Given the description of an element on the screen output the (x, y) to click on. 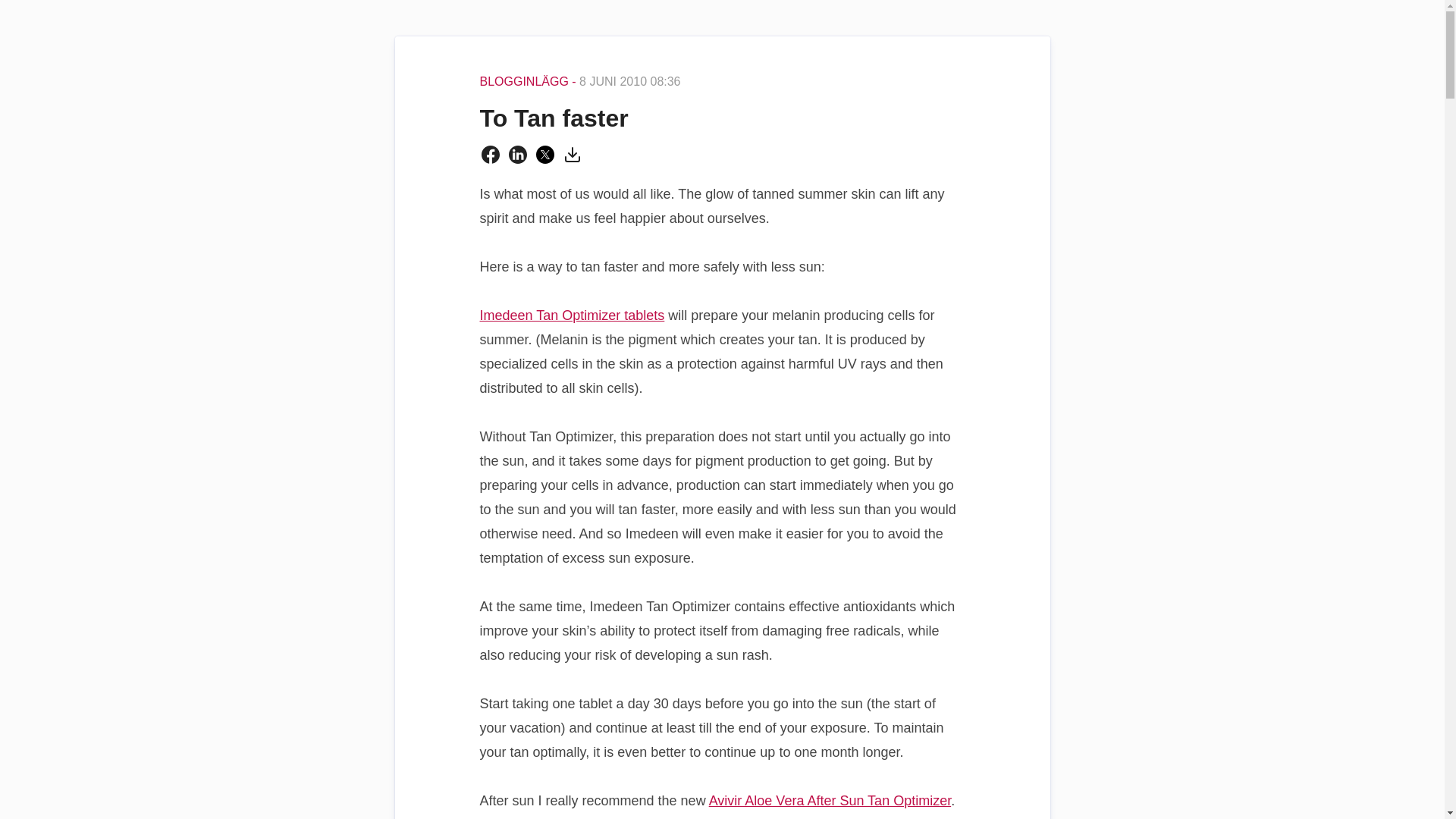
Avivir Aloe Vera After Sun Tan Optimizer (830, 800)
Ladda ned som PDF (571, 154)
Dela via Twitter (544, 154)
Imedeen Tan Optimizer tablets (571, 314)
Dela via Facebook (489, 154)
Dela via Linkedin (516, 154)
